Given the description of an element on the screen output the (x, y) to click on. 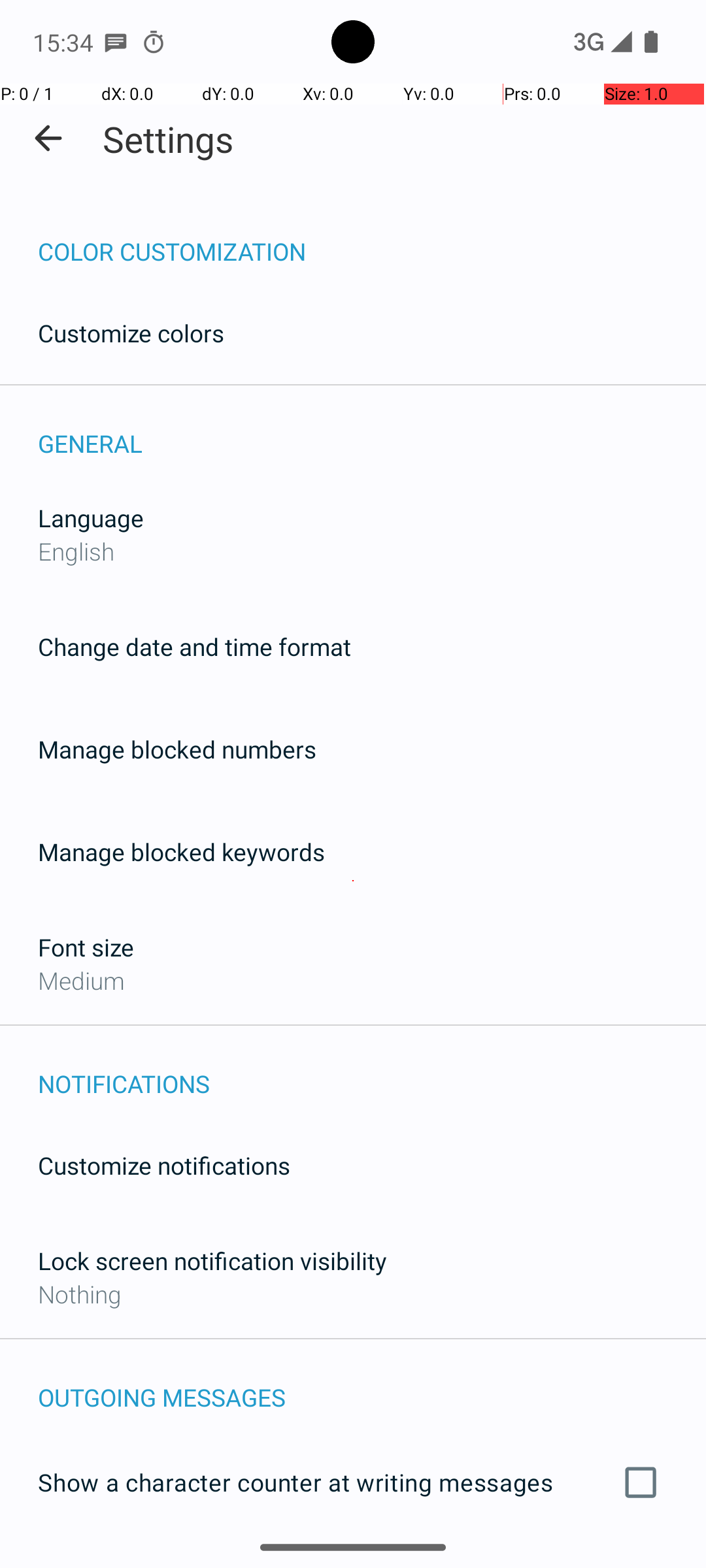
Nothing Element type: android.widget.TextView (79, 1293)
SMS Messenger notification: Emil Liu Element type: android.widget.ImageView (115, 41)
